Given the description of an element on the screen output the (x, y) to click on. 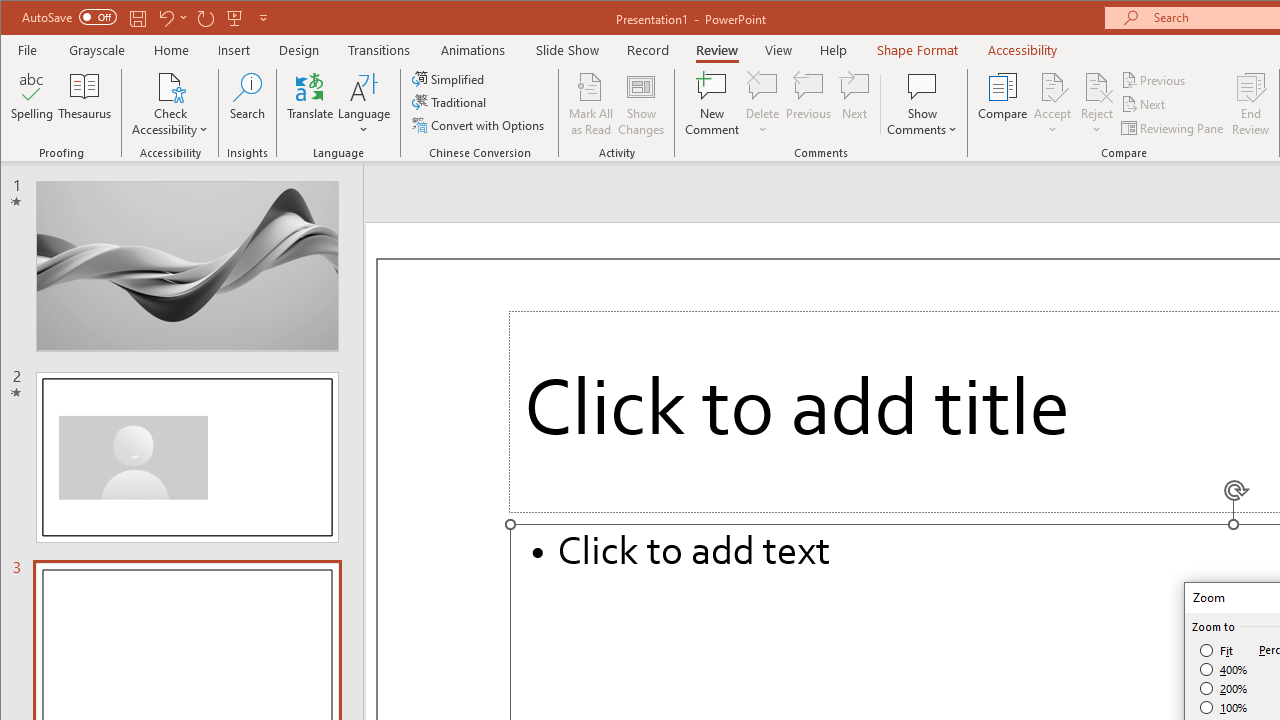
Fit (1217, 650)
Reject Change (1096, 86)
Previous (1154, 80)
Language (363, 104)
Traditional (450, 101)
Thesaurus... (84, 104)
Reviewing Pane (1173, 127)
